Given the description of an element on the screen output the (x, y) to click on. 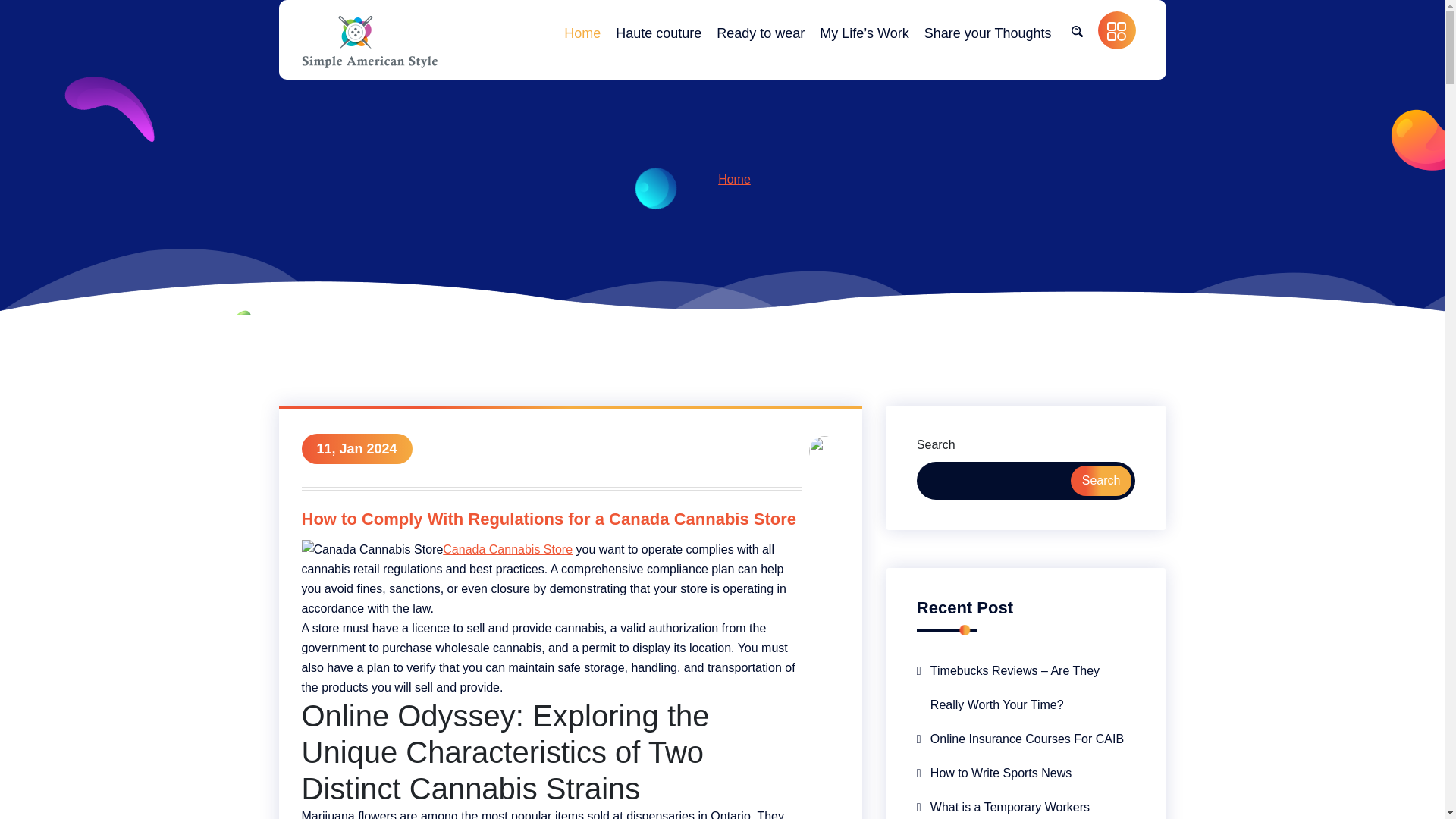
Haute couture (658, 32)
How to Comply With Regulations for a Canada Cannabis Store (551, 521)
Home (581, 32)
Share your Thoughts (987, 32)
Canada Cannabis Store (507, 549)
Home (734, 178)
Ready to wear (760, 32)
